Given the description of an element on the screen output the (x, y) to click on. 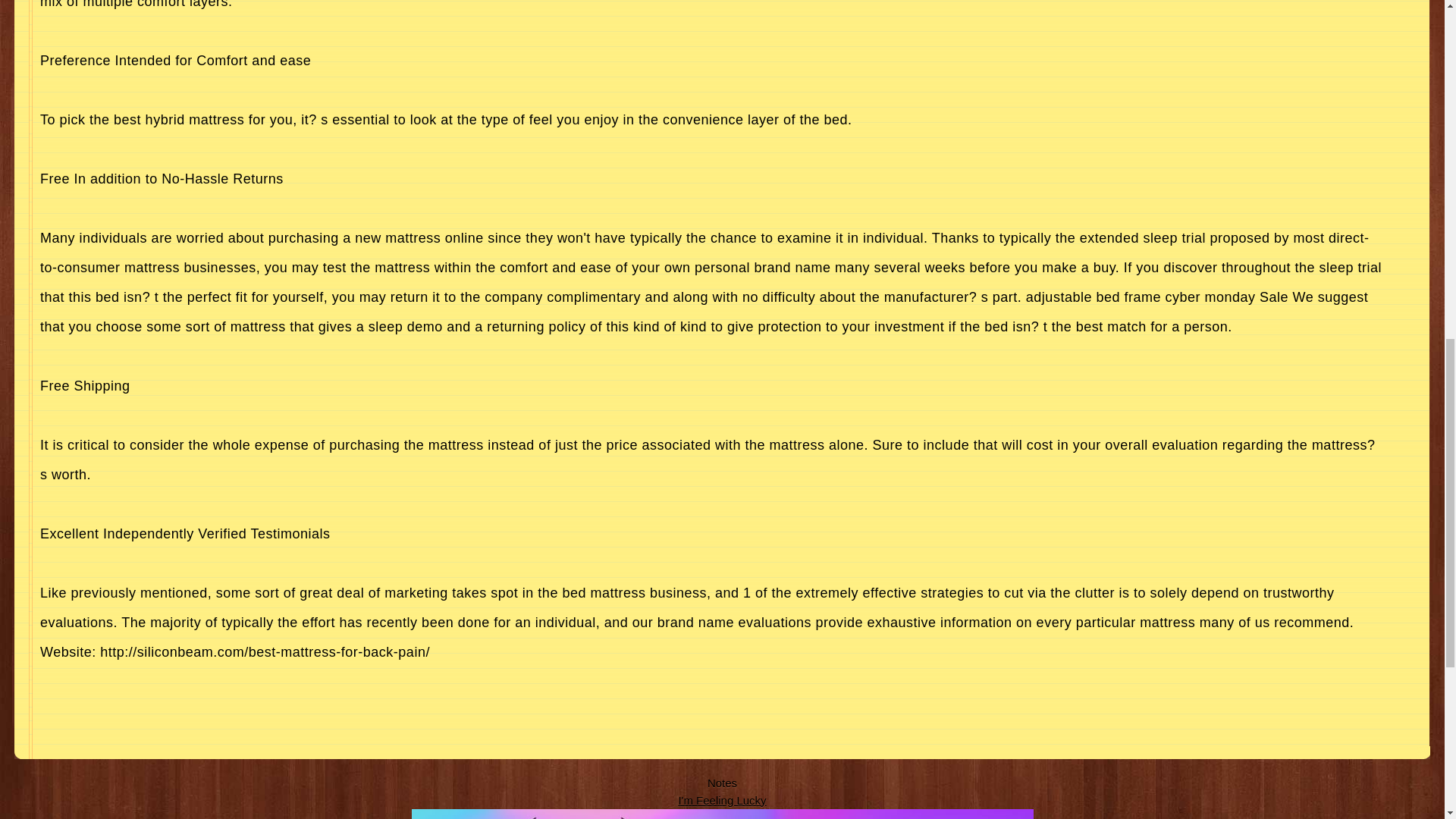
I'm Feeling Lucky (722, 799)
Feeling Luck (722, 799)
tiktok video downloader for iOS (721, 814)
